Given the description of an element on the screen output the (x, y) to click on. 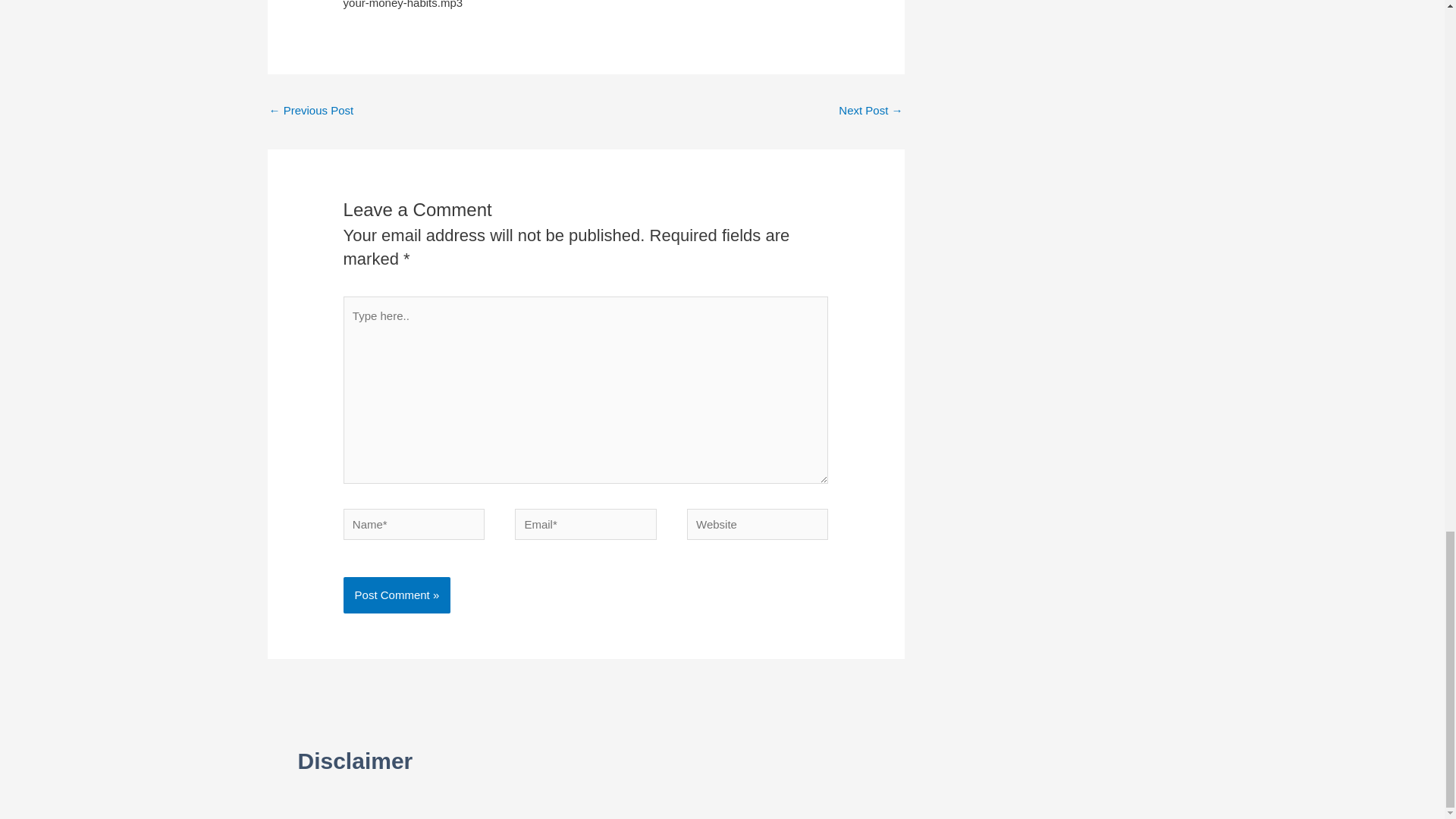
For 7 days try something new. (310, 111)
Hot Sauna INCREASE YOUR Growth Hormone (870, 111)
Disclaimer (354, 760)
